Given the description of an element on the screen output the (x, y) to click on. 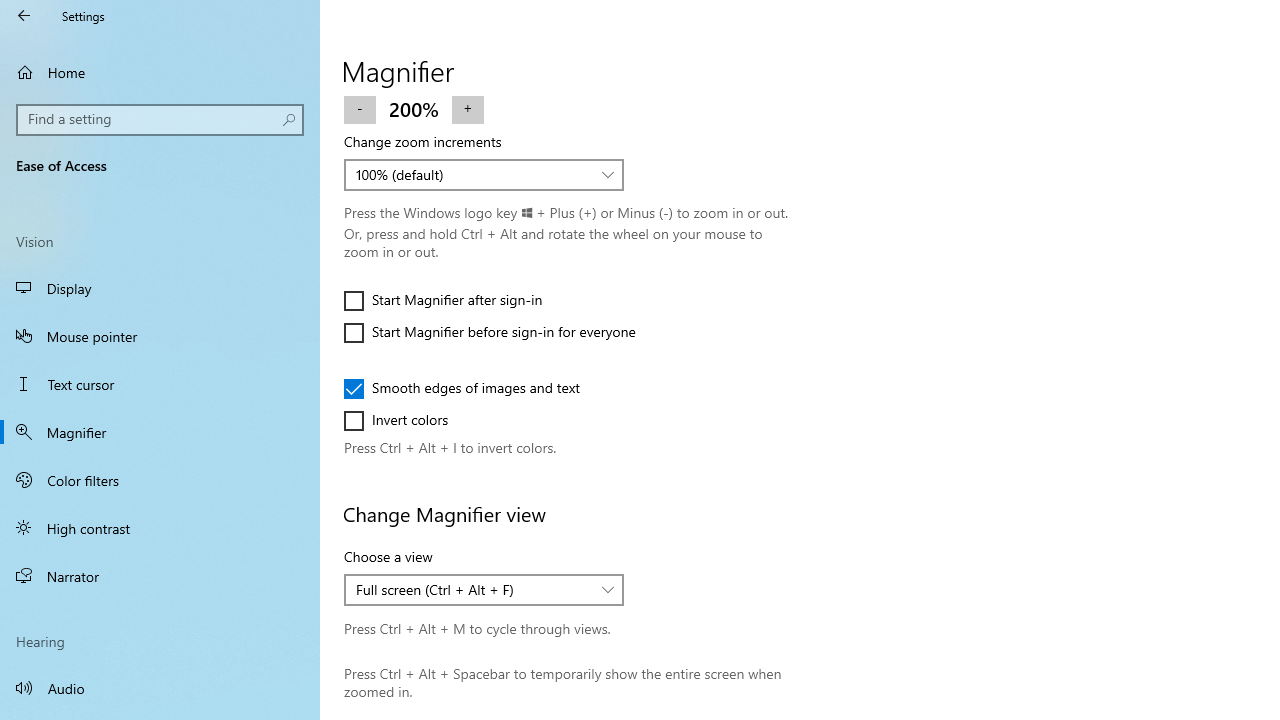
Zoom out (360, 107)
Mouse pointer (160, 335)
Change zoom increments (484, 174)
Display (160, 287)
Zoom in (467, 107)
Search box, Find a setting (160, 119)
Full screen (Ctrl + Alt + F) (473, 589)
Narrator (160, 575)
Magnifier (160, 431)
Text cursor (160, 384)
Audio (160, 687)
High contrast (160, 527)
Color filters (160, 479)
